Given the description of an element on the screen output the (x, y) to click on. 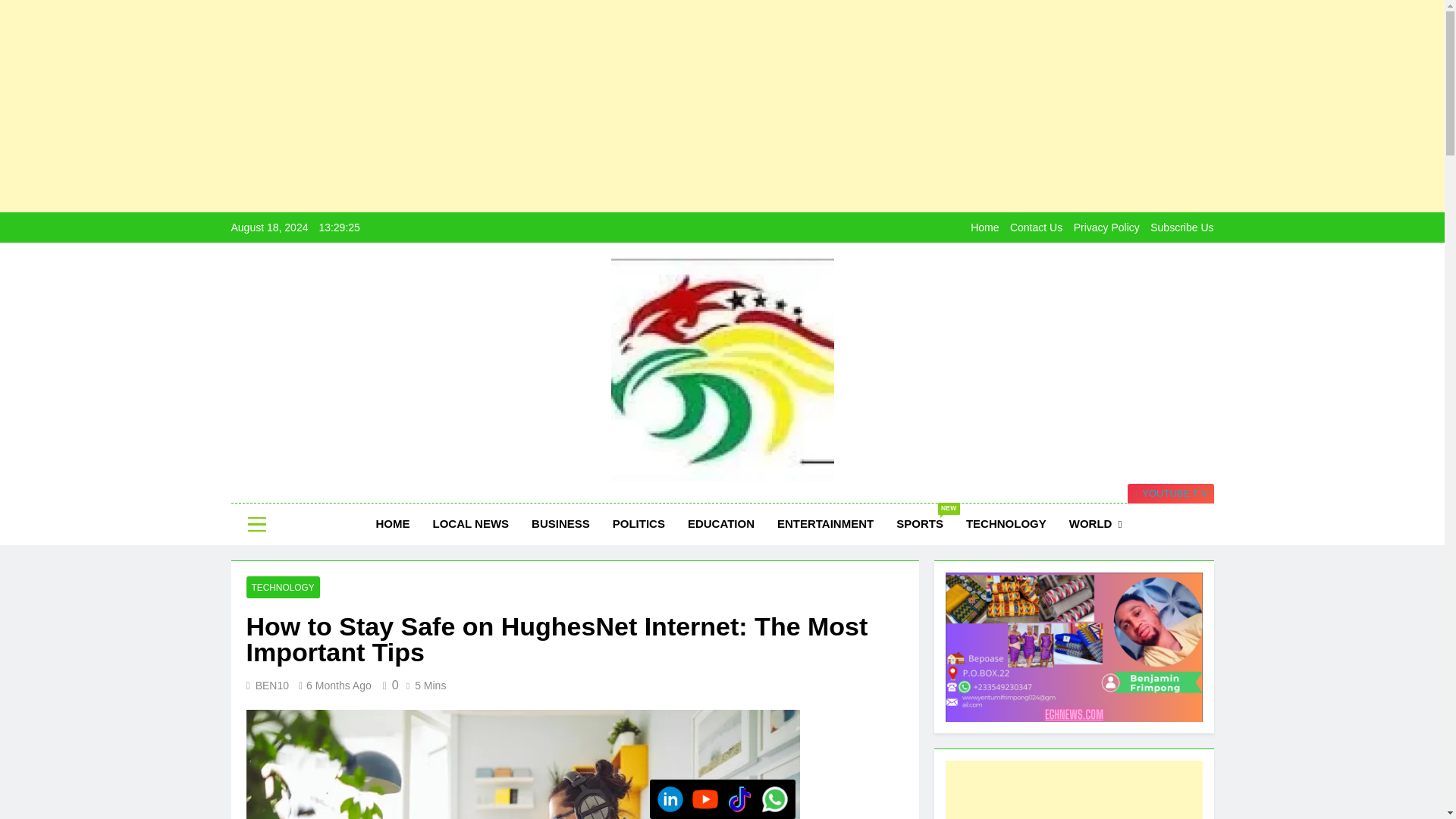
Subscribe Us (1181, 227)
Contact Us (1036, 227)
POLITICS (639, 523)
TECHNOLOGY (1006, 523)
Privacy Policy (1107, 227)
LOCAL NEWS (471, 523)
Home (984, 227)
EDUCATION (721, 523)
YOUTUBE T V (1170, 493)
